Given the description of an element on the screen output the (x, y) to click on. 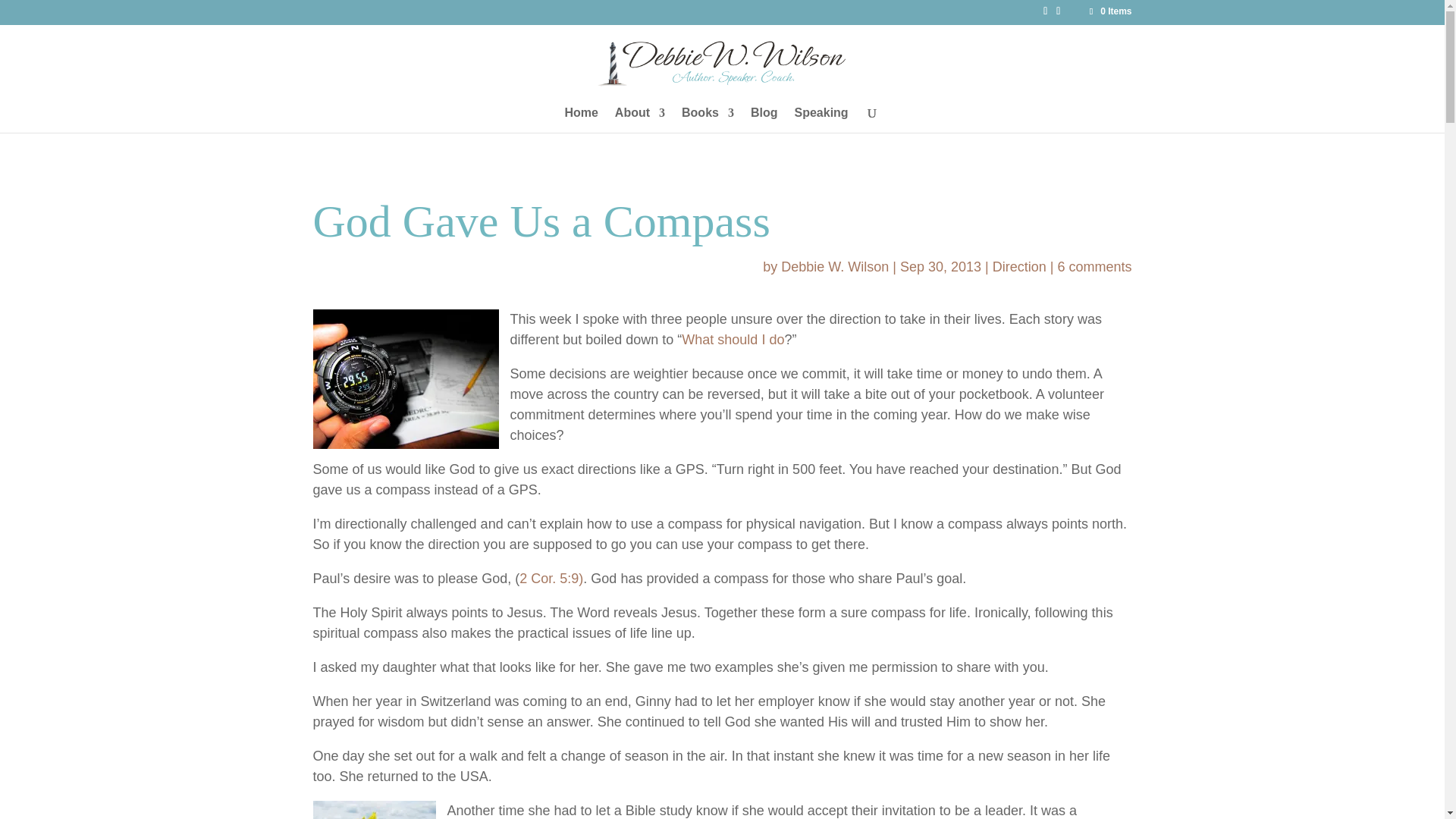
Speaking (820, 119)
Books (707, 119)
Debbie W. Wilson (834, 266)
About (639, 119)
0 Items (1108, 10)
Posts by Debbie W. Wilson (834, 266)
What should I do (732, 339)
Blog (764, 119)
Home (580, 119)
6 comments (1094, 266)
